Given the description of an element on the screen output the (x, y) to click on. 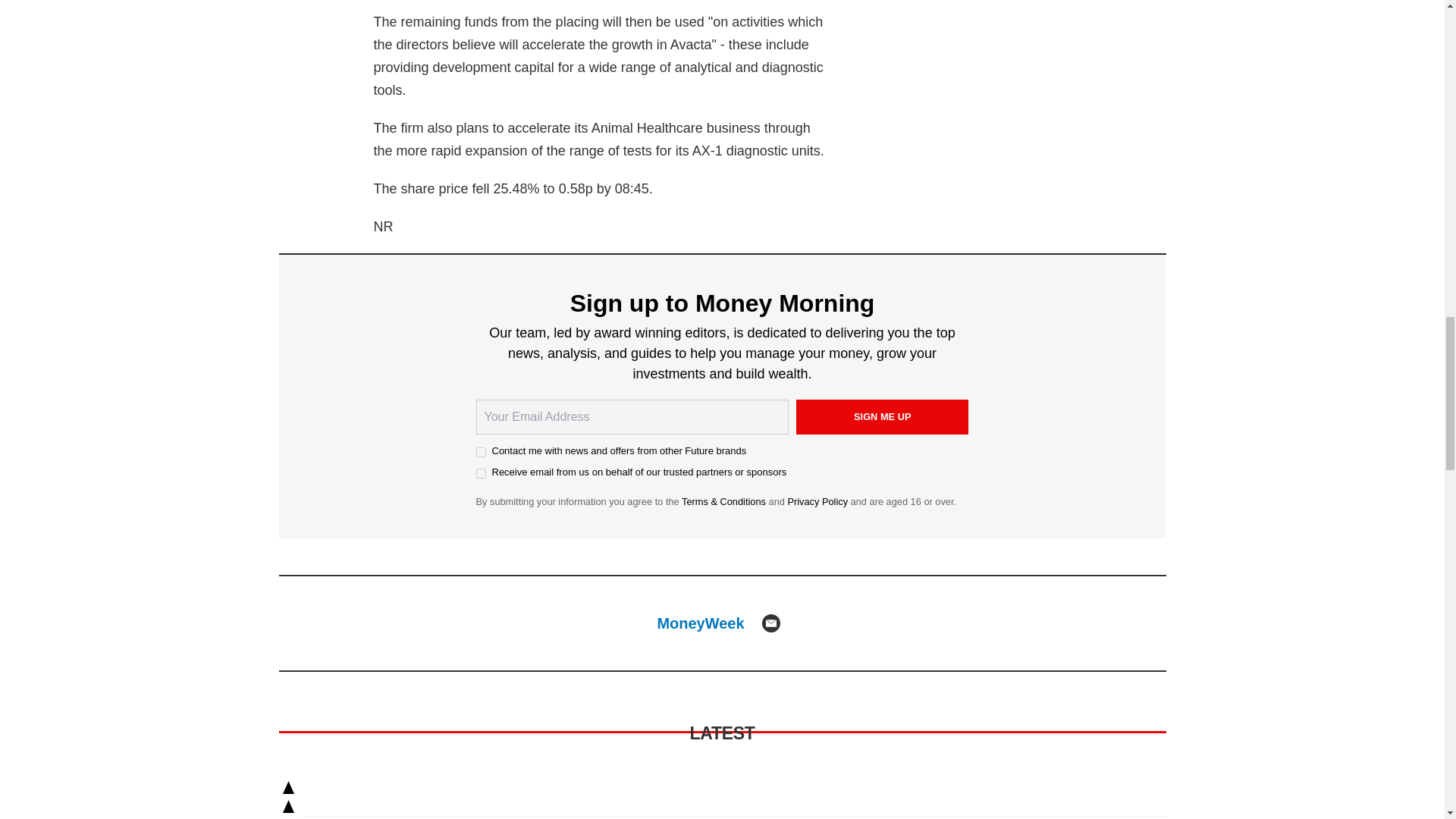
on (481, 452)
Sign me up (882, 416)
on (481, 473)
